Given the description of an element on the screen output the (x, y) to click on. 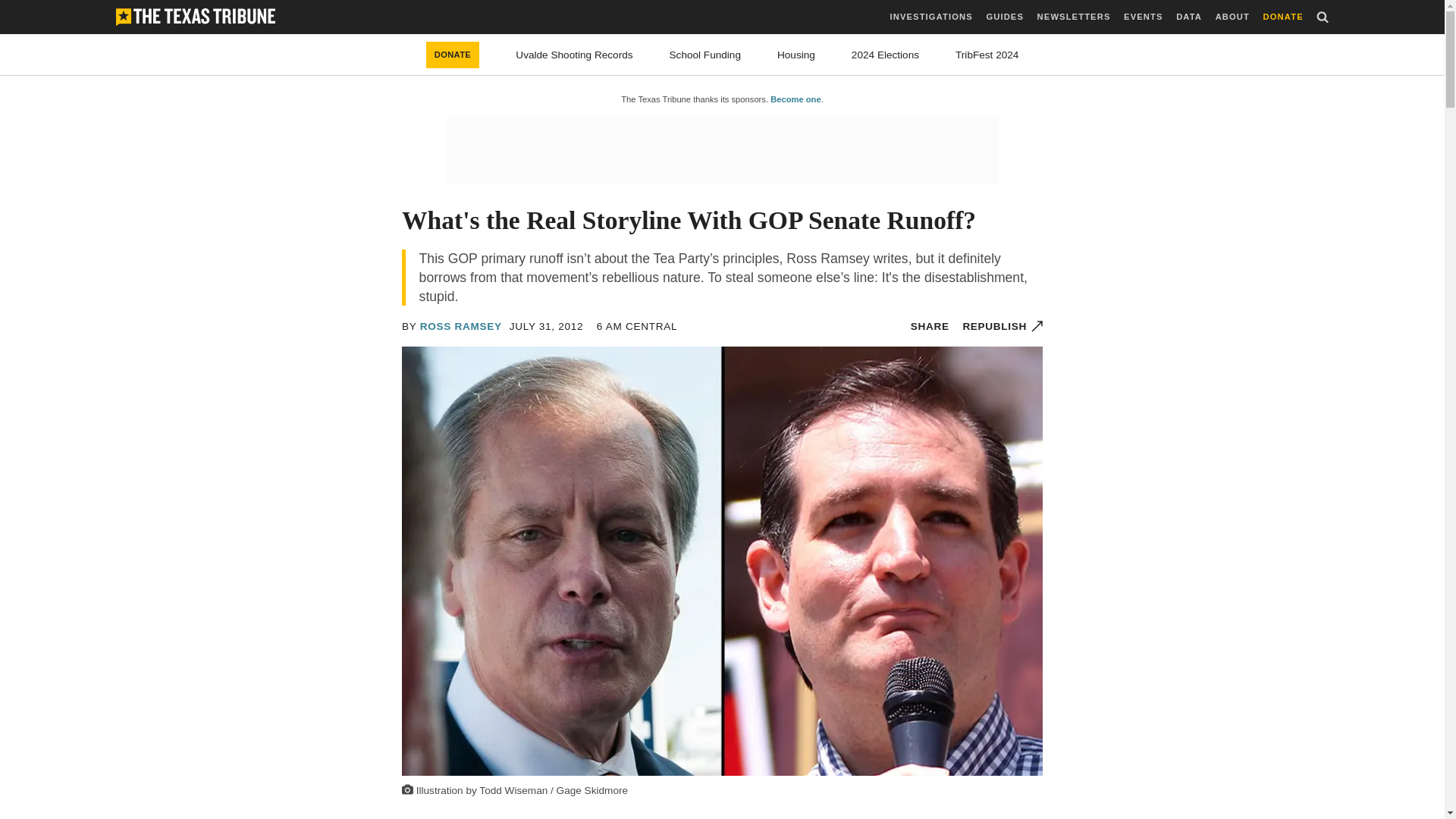
3rd party ad content (721, 150)
School Funding (705, 54)
ROSS RAMSEY (461, 326)
Uvalde Shooting Records (573, 54)
ABOUT (1232, 17)
REPUBLISH (1002, 326)
DONATE (453, 54)
2012-07-31 06:00 CDT (546, 326)
Become one (795, 99)
2024 Elections (884, 54)
